Given the description of an element on the screen output the (x, y) to click on. 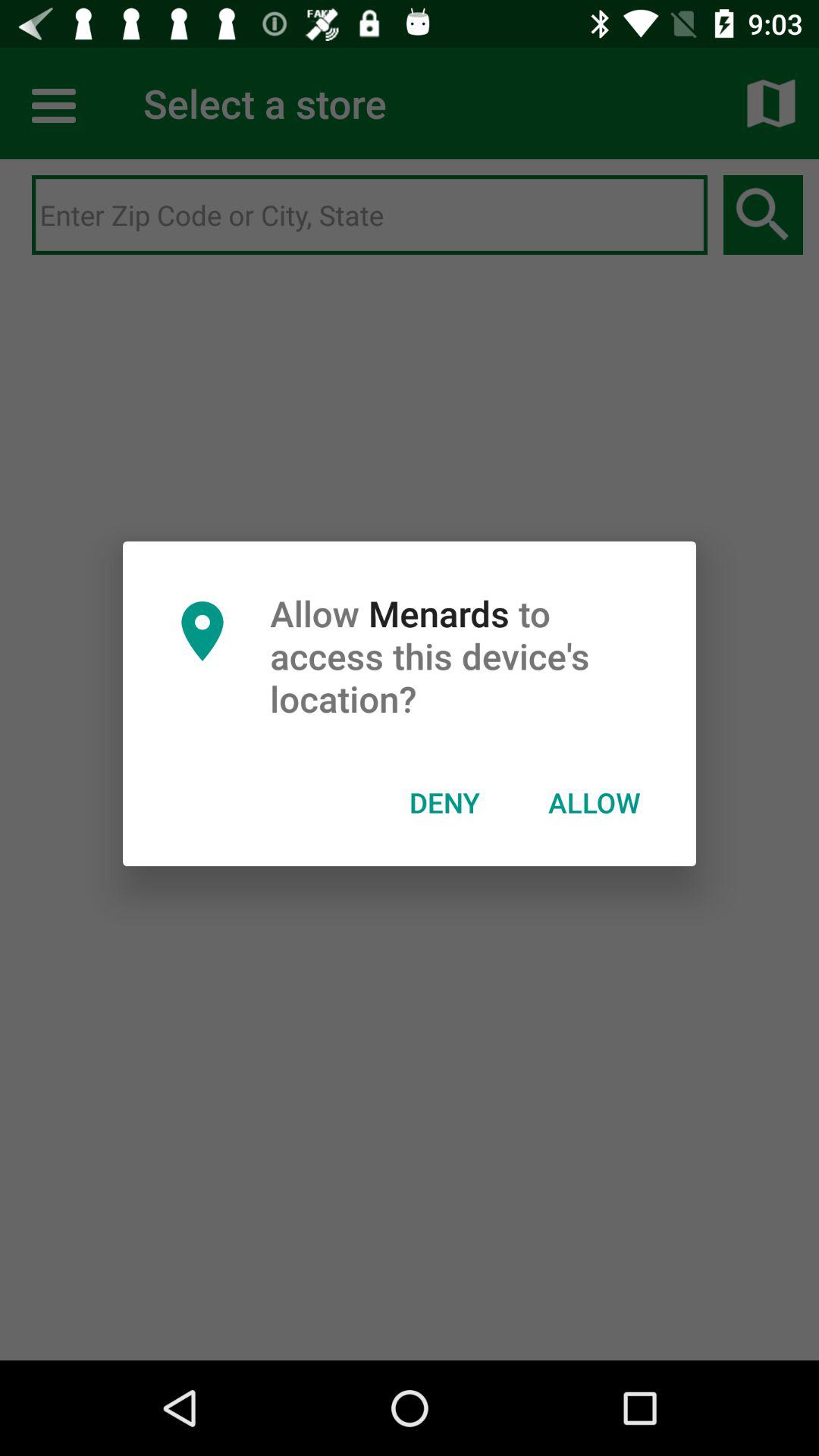
search bar (369, 215)
